Given the description of an element on the screen output the (x, y) to click on. 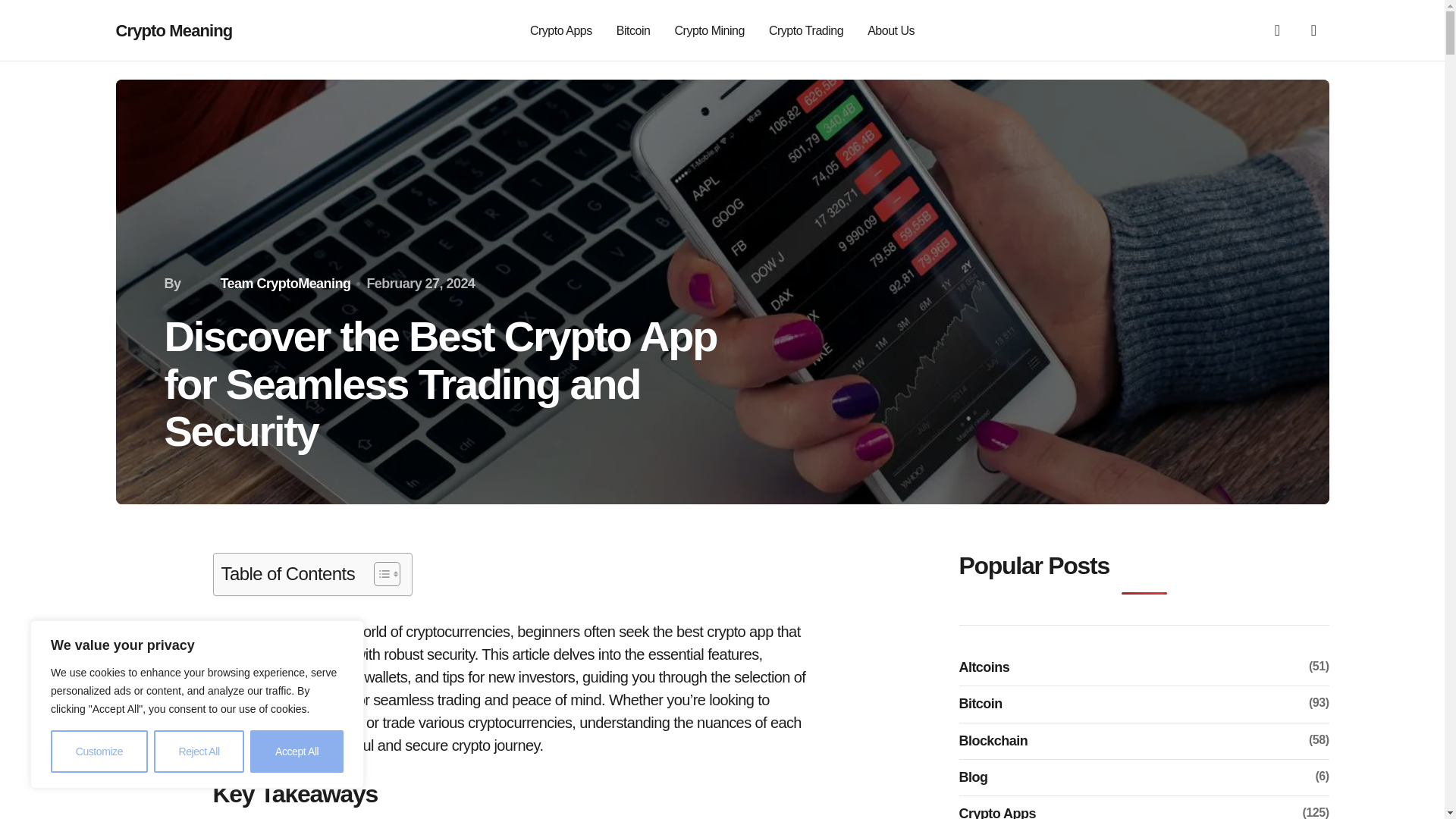
Accept All (296, 751)
Reject All (199, 751)
Customize (99, 751)
